Given the description of an element on the screen output the (x, y) to click on. 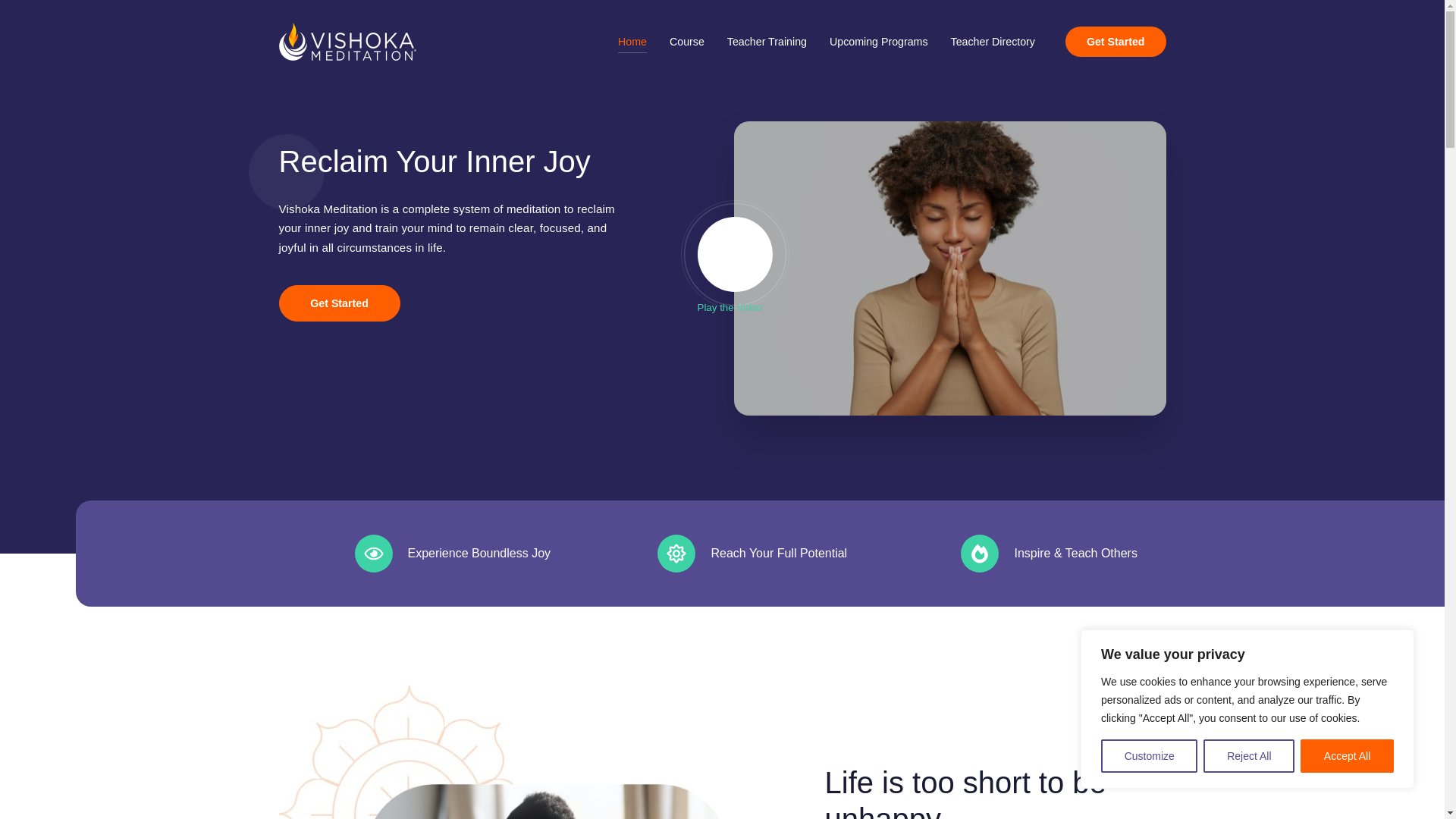
Get Started (1115, 41)
Get Started (339, 303)
Teacher Directory (992, 41)
Customize (1148, 756)
Upcoming Programs (878, 41)
Accept All (1346, 756)
Teacher Training (767, 41)
Reject All (1249, 756)
